Given the description of an element on the screen output the (x, y) to click on. 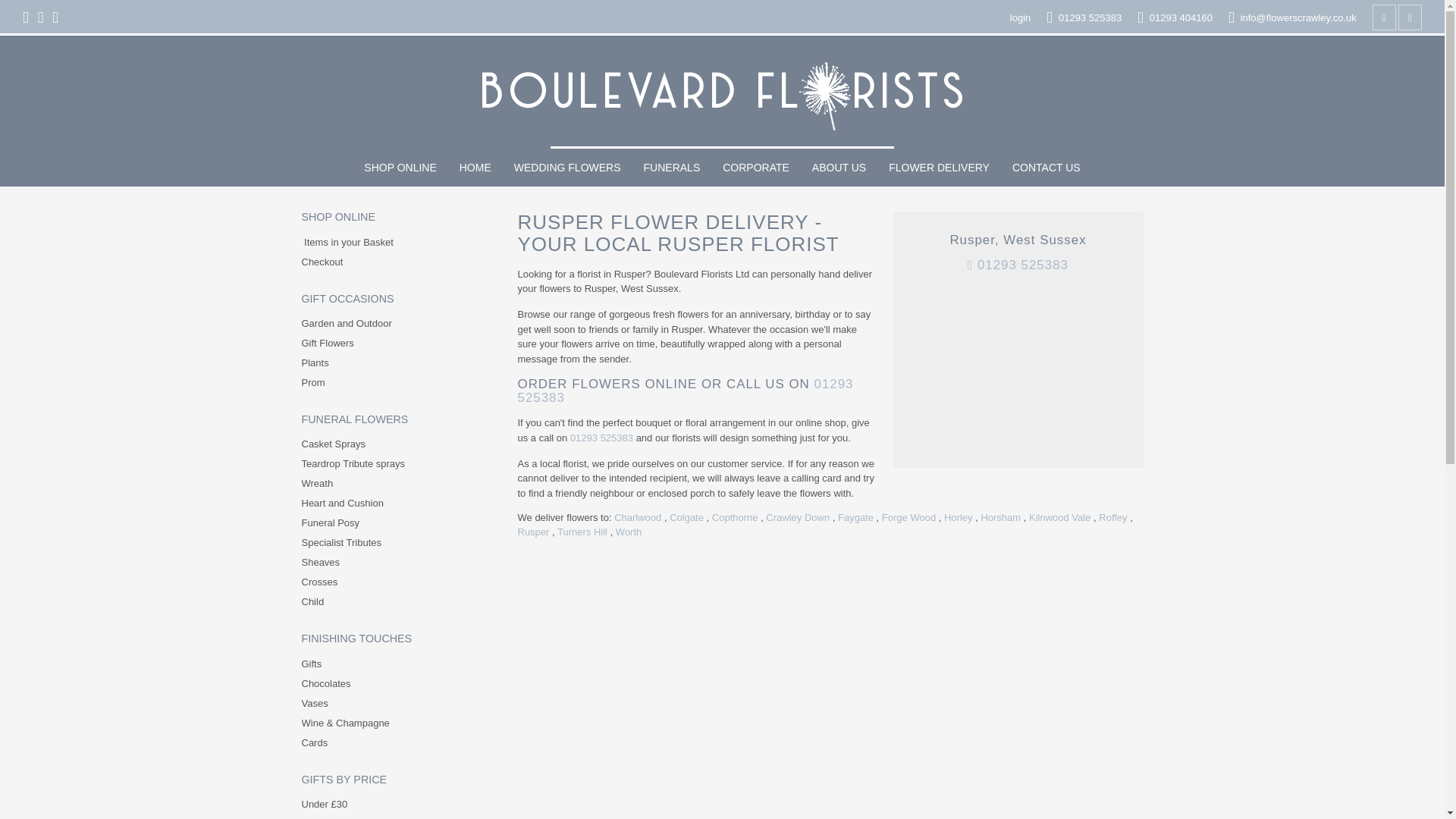
Corporate (755, 167)
SHOP ONLINE (399, 167)
FLOWER DELIVERY (939, 167)
Flower Delivery (939, 167)
WEDDING FLOWERS (566, 167)
Funerals (671, 167)
FUNERALS (671, 167)
About Us (838, 167)
HOME (475, 167)
Wedding Flowers (566, 167)
01293 525383 (1083, 17)
login (1020, 17)
Home (475, 167)
CONTACT US (1046, 167)
01293 404160 (1174, 17)
